Given the description of an element on the screen output the (x, y) to click on. 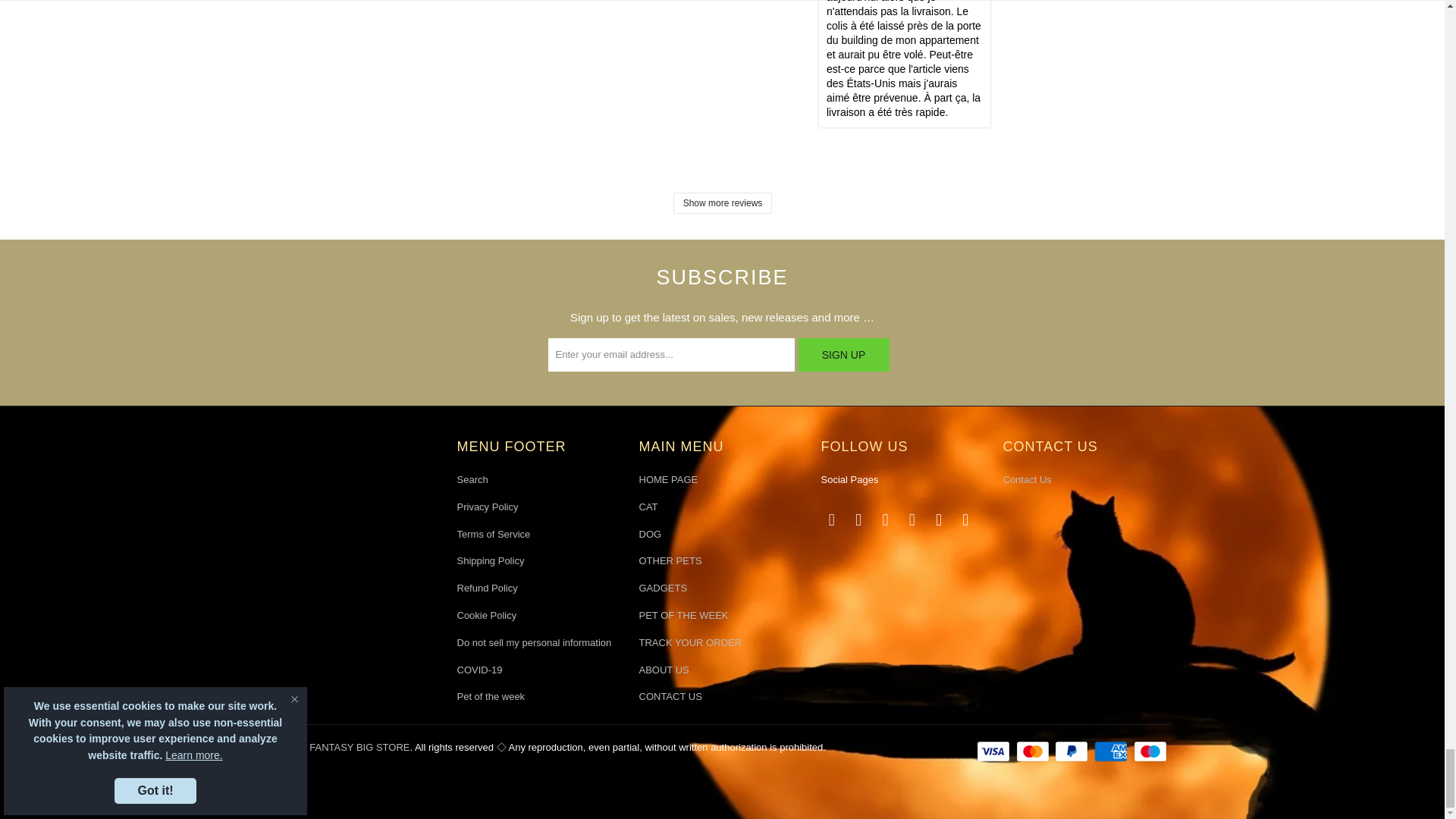
Sign Up (842, 354)
